Given the description of an element on the screen output the (x, y) to click on. 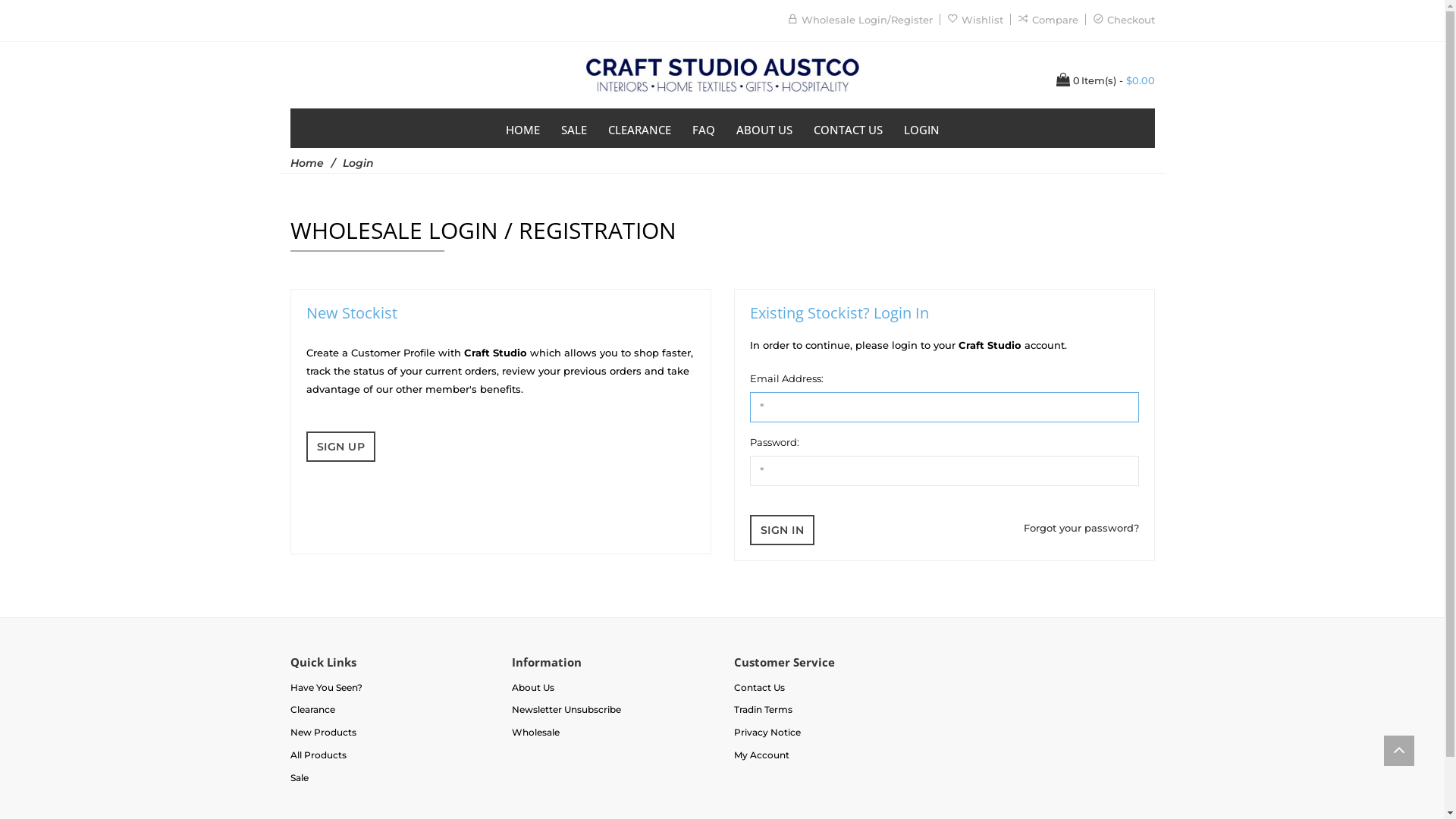
Wishlist Element type: text (982, 19)
HOME Element type: text (521, 127)
Wholesale Element type: text (535, 731)
Have You Seen? Element type: text (325, 687)
CLEARANCE Element type: text (639, 127)
Tradin Terms Element type: text (763, 709)
New Products Element type: text (322, 731)
Forgot your password? Element type: text (1081, 527)
Home Element type: text (306, 162)
0Item(s) -$0.00 Element type: text (1104, 80)
Sign Up Element type: text (341, 446)
All Products Element type: text (317, 754)
Privacy Notice Element type: text (767, 731)
Contact Us Element type: text (759, 687)
SALE Element type: text (573, 127)
Checkout Element type: text (1130, 19)
Sale Element type: text (298, 777)
Compare Element type: text (1054, 19)
Newsletter Unsubscribe Element type: text (566, 709)
FAQ Element type: text (702, 127)
ABOUT US Element type: text (763, 127)
Wholesale Login/Register Element type: text (865, 19)
Clearance Element type: text (311, 709)
About Us Element type: text (532, 687)
CONTACT US Element type: text (847, 127)
Sign In Element type: text (781, 529)
LOGIN Element type: text (921, 127)
My Account Element type: text (761, 754)
